Given the description of an element on the screen output the (x, y) to click on. 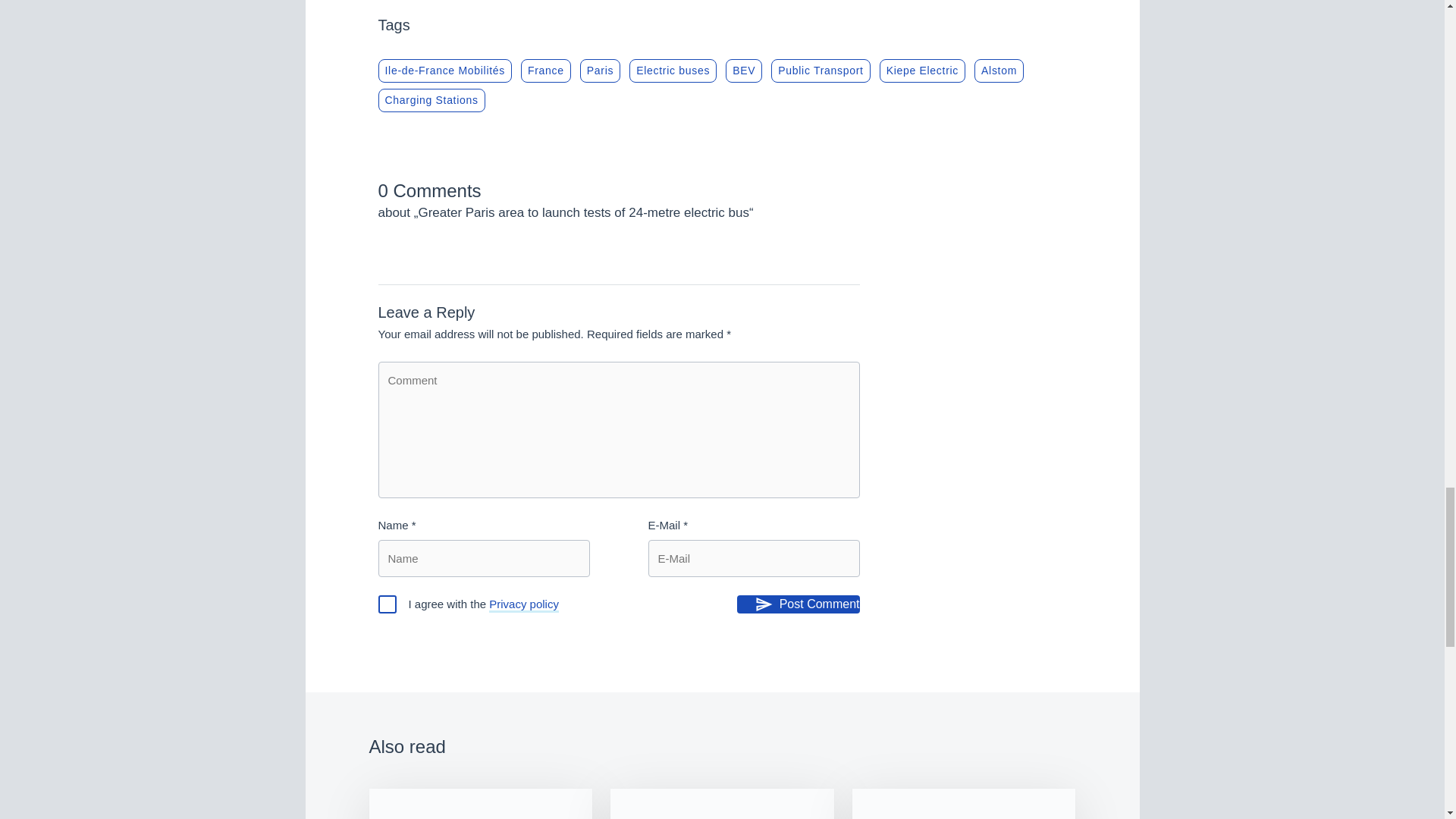
Post Comment (798, 604)
EU Commission slightly lowers tariffs for EVs from China (963, 803)
Trump calls US electric car subsidy into question (480, 803)
